Given the description of an element on the screen output the (x, y) to click on. 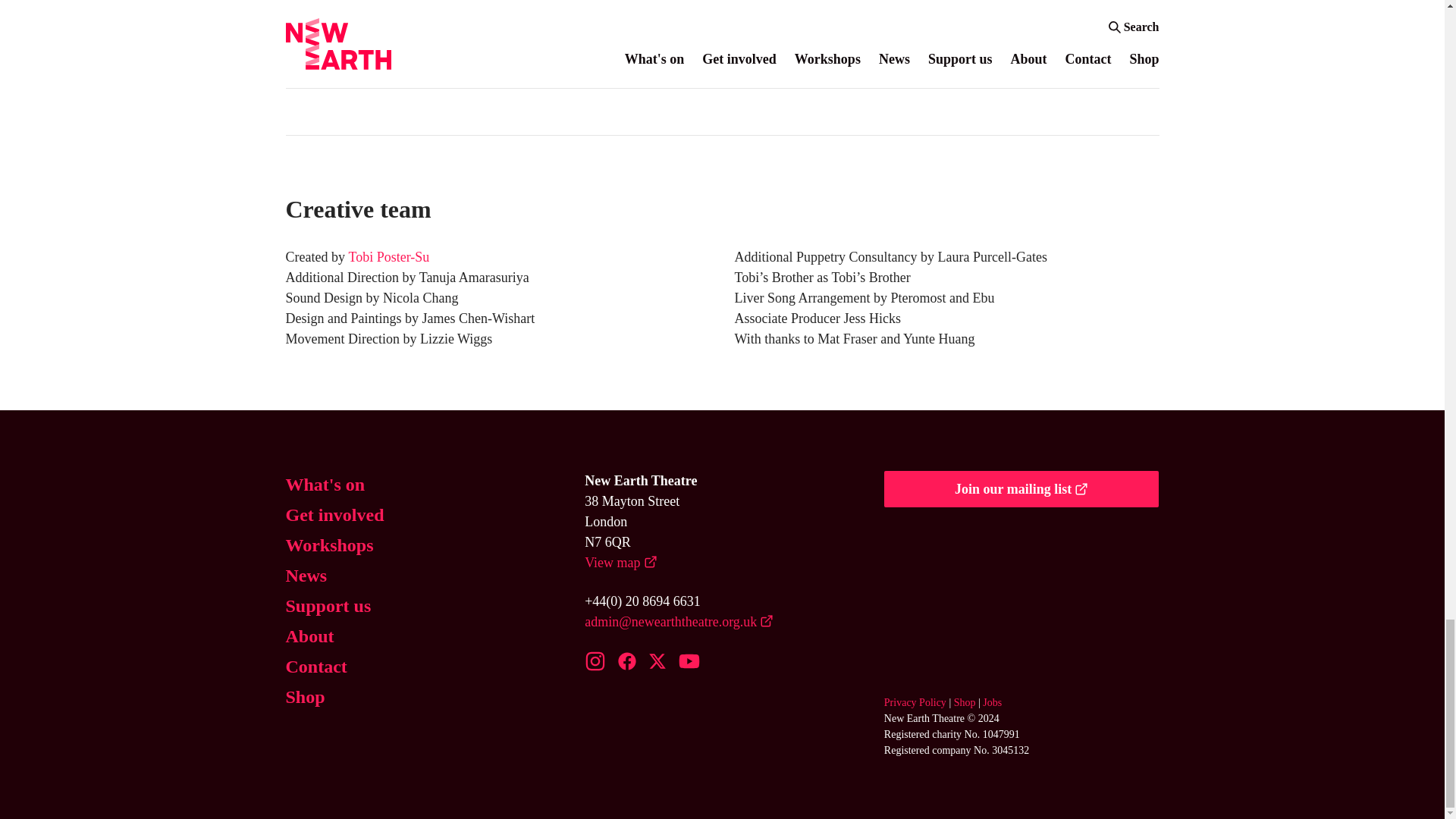
Support us (328, 605)
Workshops (328, 544)
Privacy Policy (914, 702)
Shop (964, 702)
News (305, 574)
View map (620, 562)
What's on (325, 483)
Tobi Poster-Su (388, 257)
Jobs (991, 702)
Get involved (334, 514)
